Given the description of an element on the screen output the (x, y) to click on. 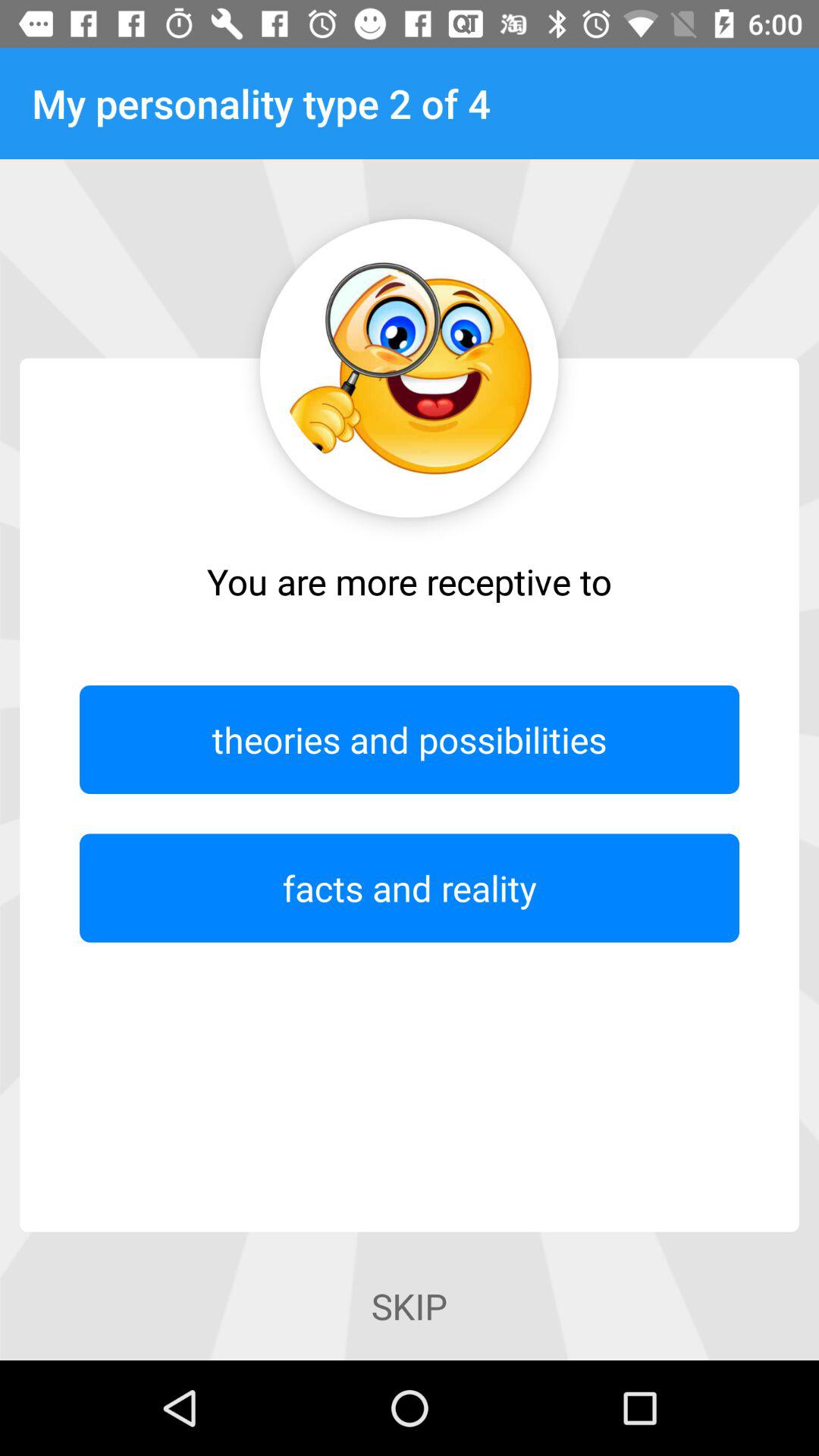
launch the theories and possibilities (409, 739)
